Given the description of an element on the screen output the (x, y) to click on. 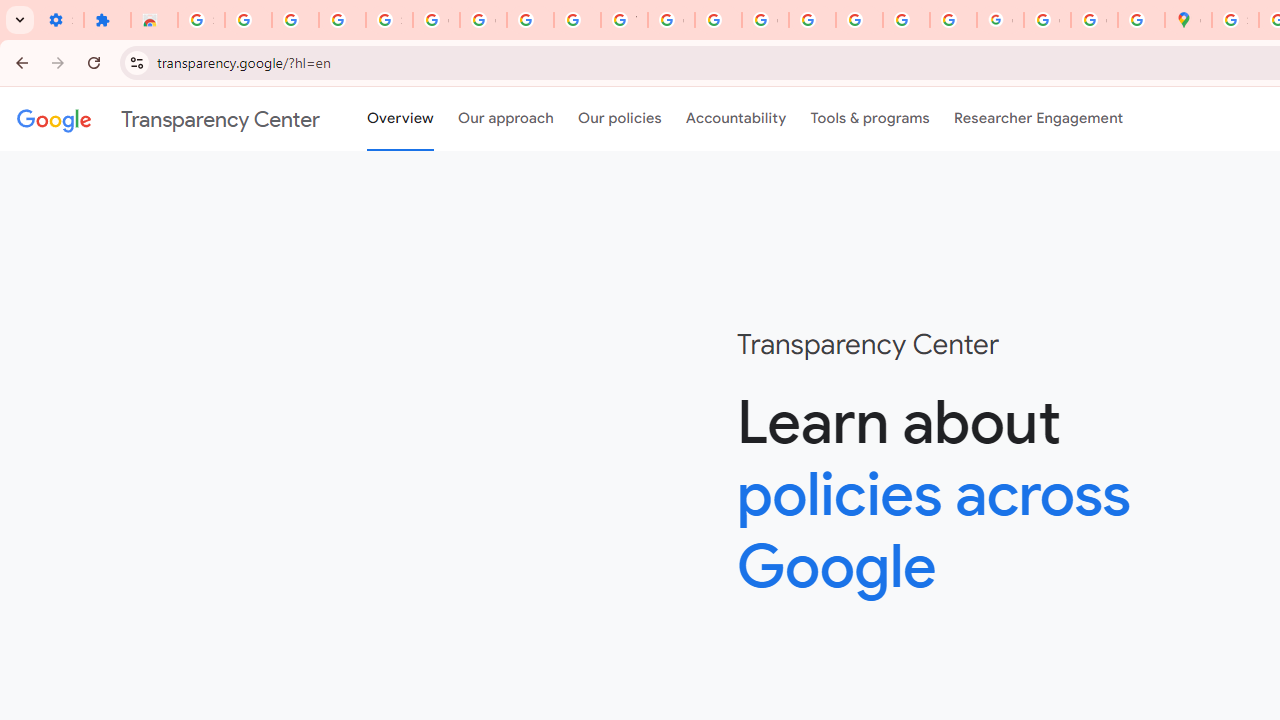
Accountability (735, 119)
Privacy Help Center - Policies Help (811, 20)
